Given the description of an element on the screen output the (x, y) to click on. 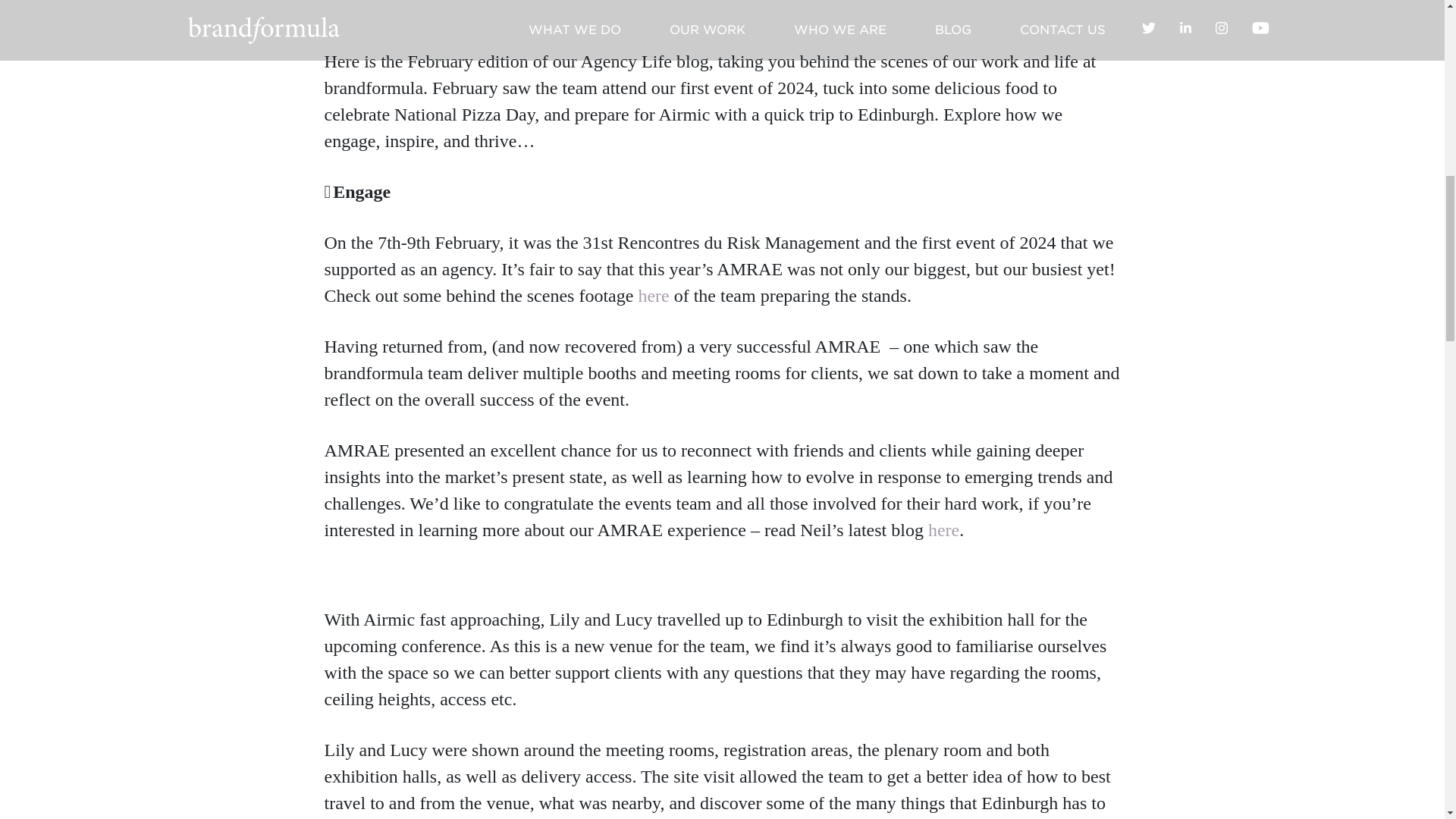
here (943, 529)
here (652, 295)
